Given the description of an element on the screen output the (x, y) to click on. 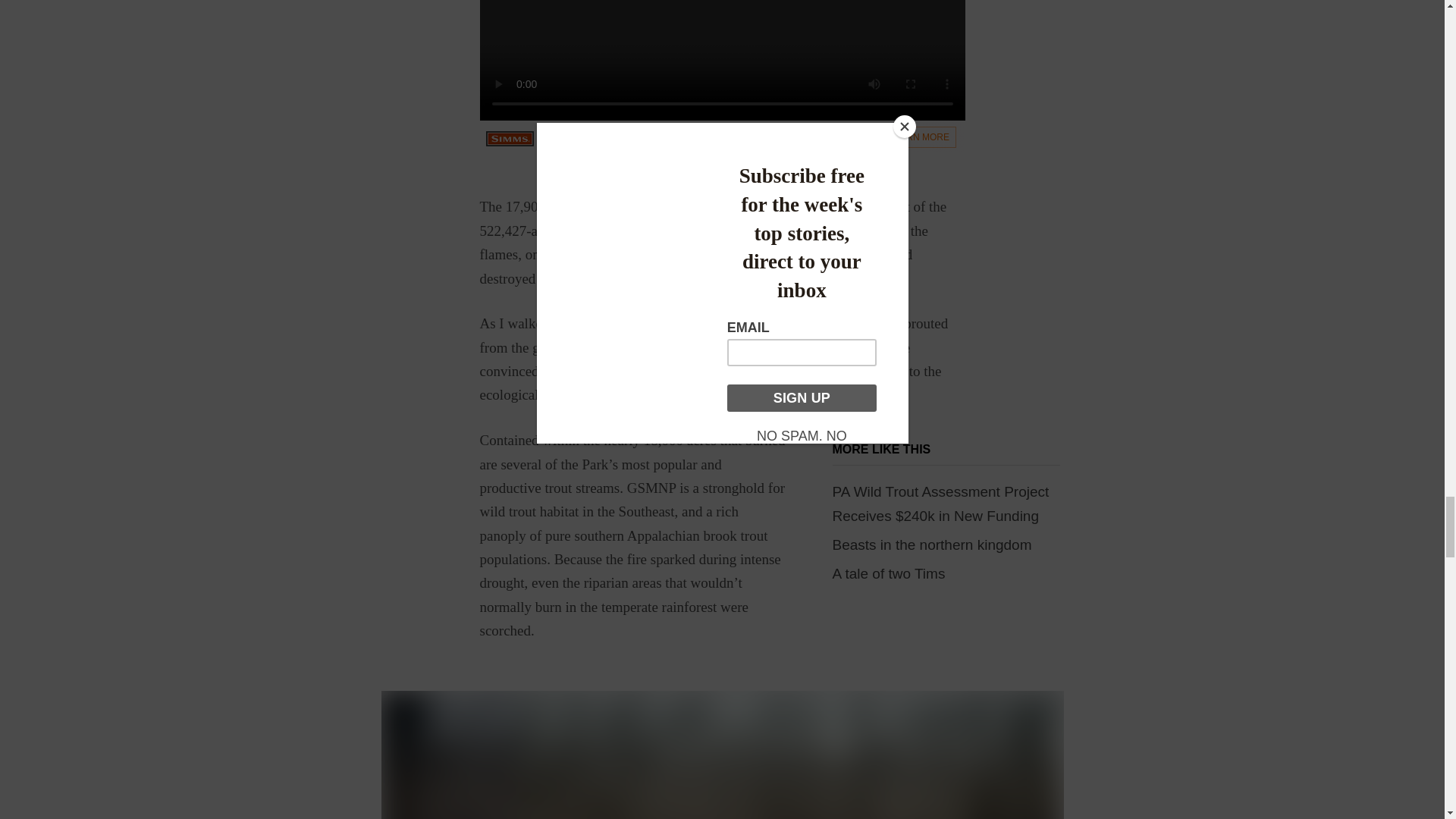
3rd party ad content (721, 76)
Beasts in the northern kingdom (932, 544)
A tale of two Tims (888, 573)
sprouts burned landscape smoky mountain national park (721, 755)
